Given the description of an element on the screen output the (x, y) to click on. 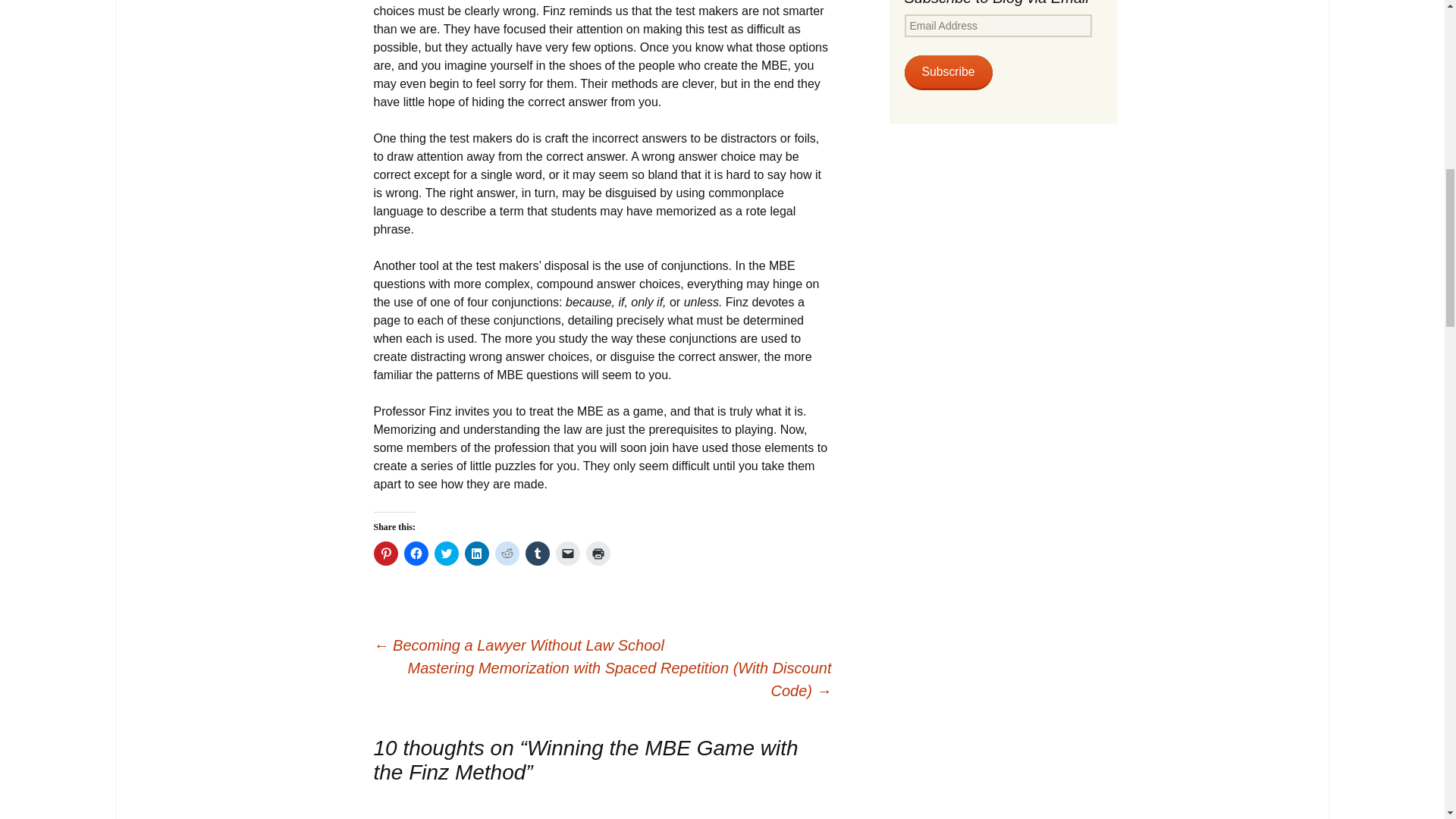
Click to share on Facebook (415, 553)
Click to print (597, 553)
Click to share on Twitter (445, 553)
Click to share on Reddit (506, 553)
Click to share on Pinterest (384, 553)
Click to email a link to a friend (566, 553)
Click to share on LinkedIn (475, 553)
Click to share on Tumblr (536, 553)
